Given the description of an element on the screen output the (x, y) to click on. 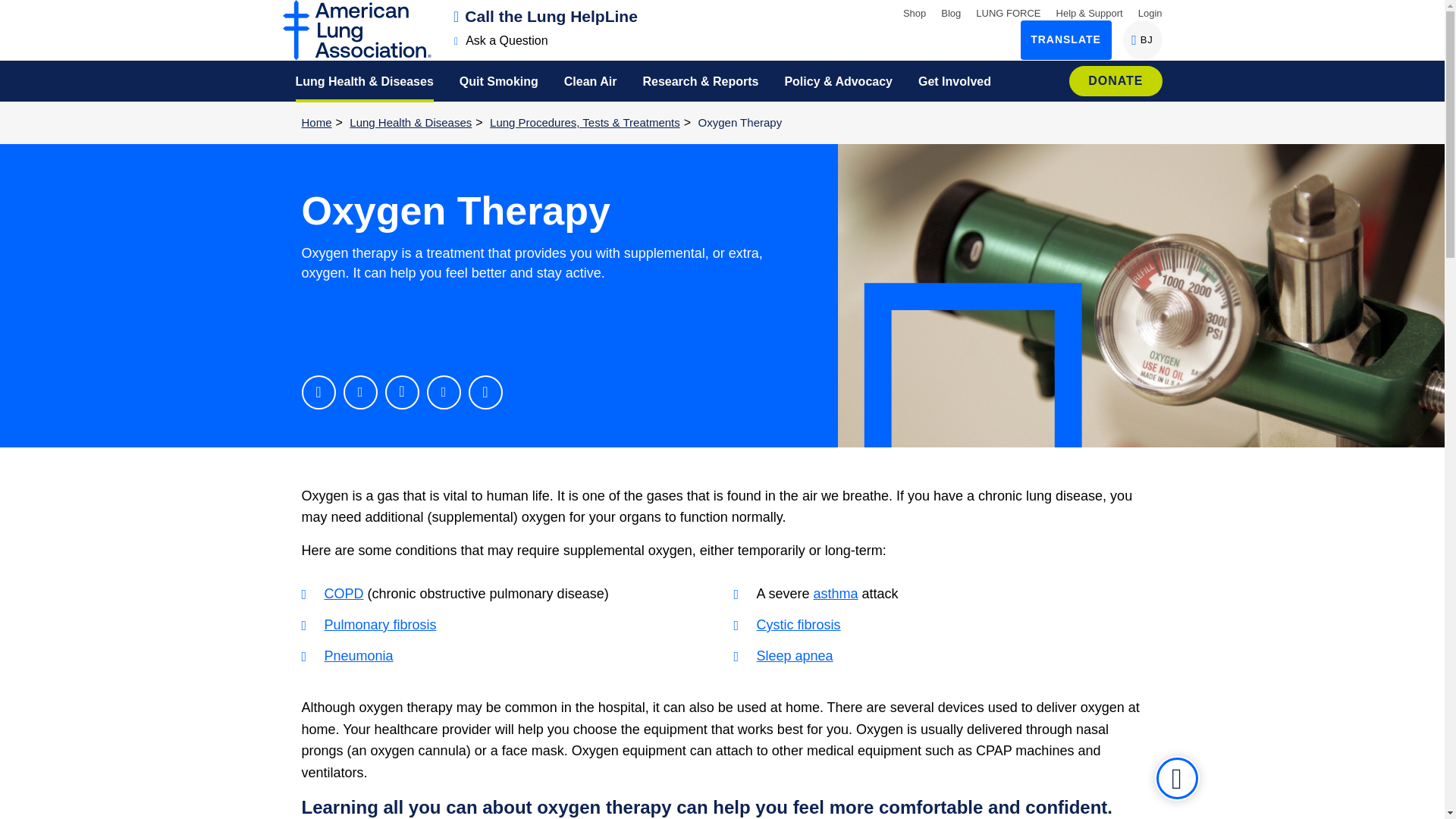
LUNG FORCE (1008, 13)
TRANSLATE (1066, 39)
Shop (914, 13)
Blog (950, 13)
Login (1141, 39)
Call the Lung HelpLine (1149, 13)
SKIP TO MAIN CONTENT (545, 16)
Ask a Question (18, 10)
